Given the description of an element on the screen output the (x, y) to click on. 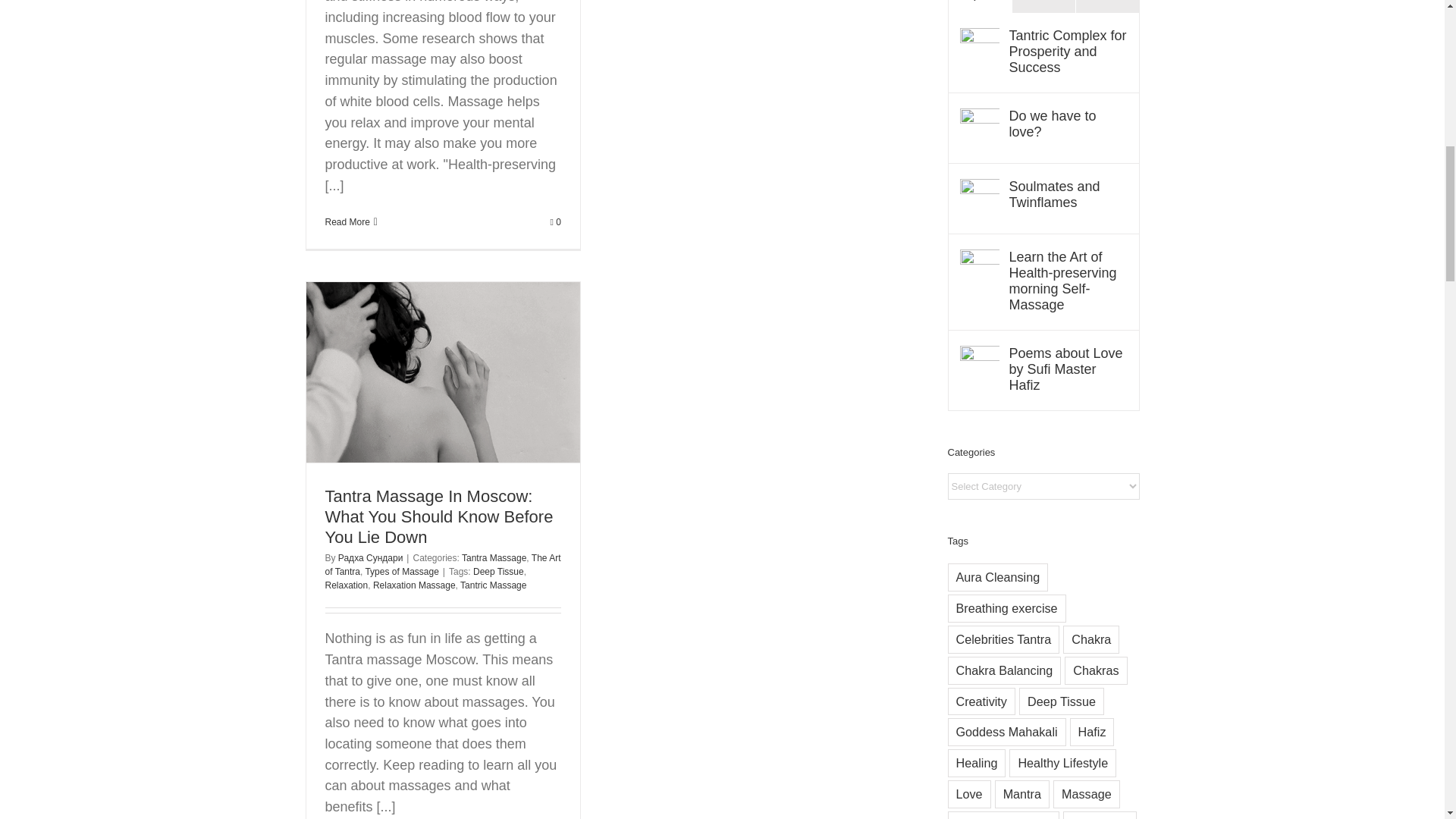
 0 (555, 222)
Read More (346, 222)
